Given the description of an element on the screen output the (x, y) to click on. 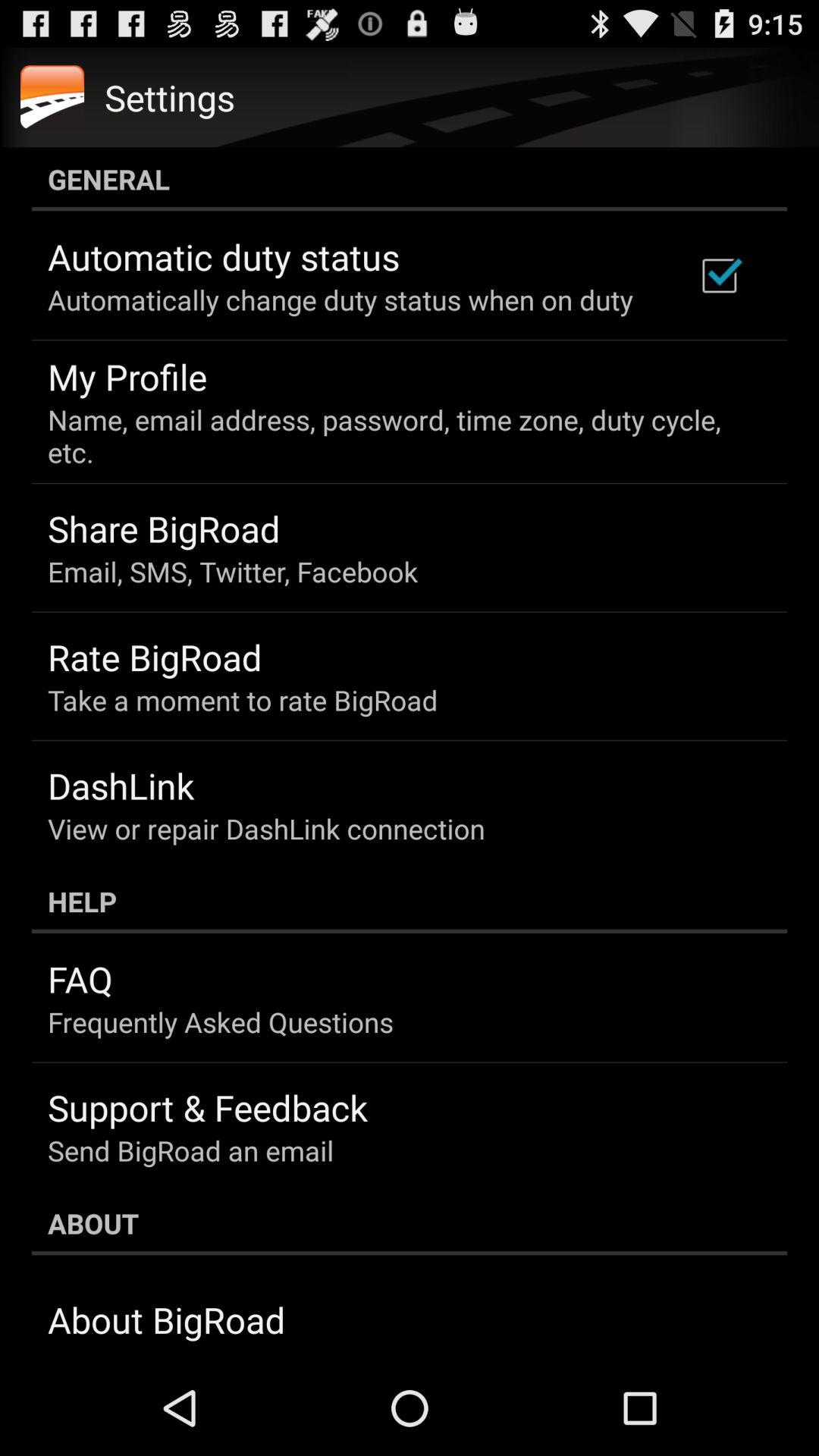
tap the icon above help item (266, 828)
